Given the description of an element on the screen output the (x, y) to click on. 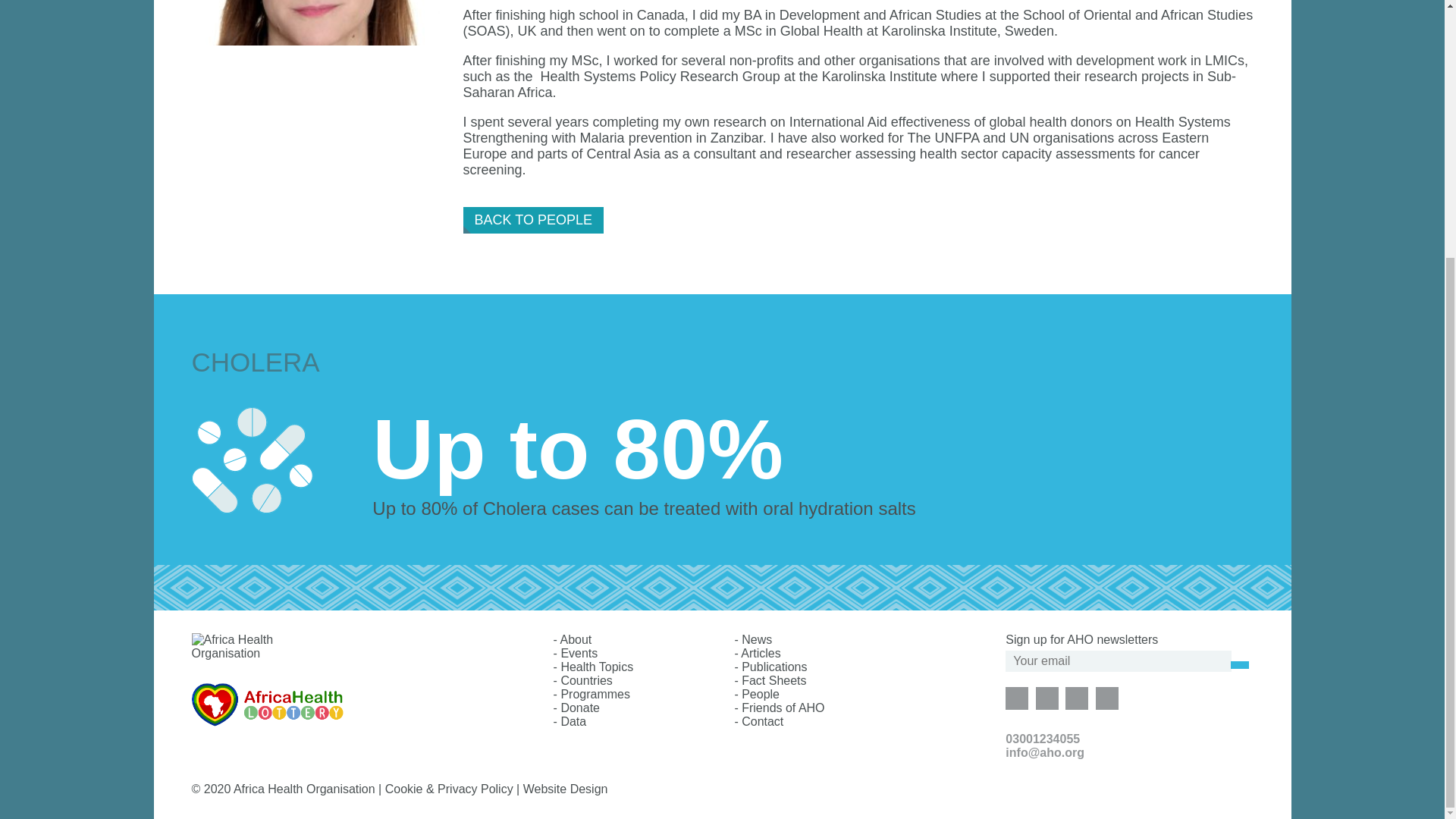
About (575, 639)
Events (578, 653)
Health Topics (596, 666)
Programmes (595, 694)
Countries (585, 680)
BACK TO PEOPLE (533, 220)
